Given the description of an element on the screen output the (x, y) to click on. 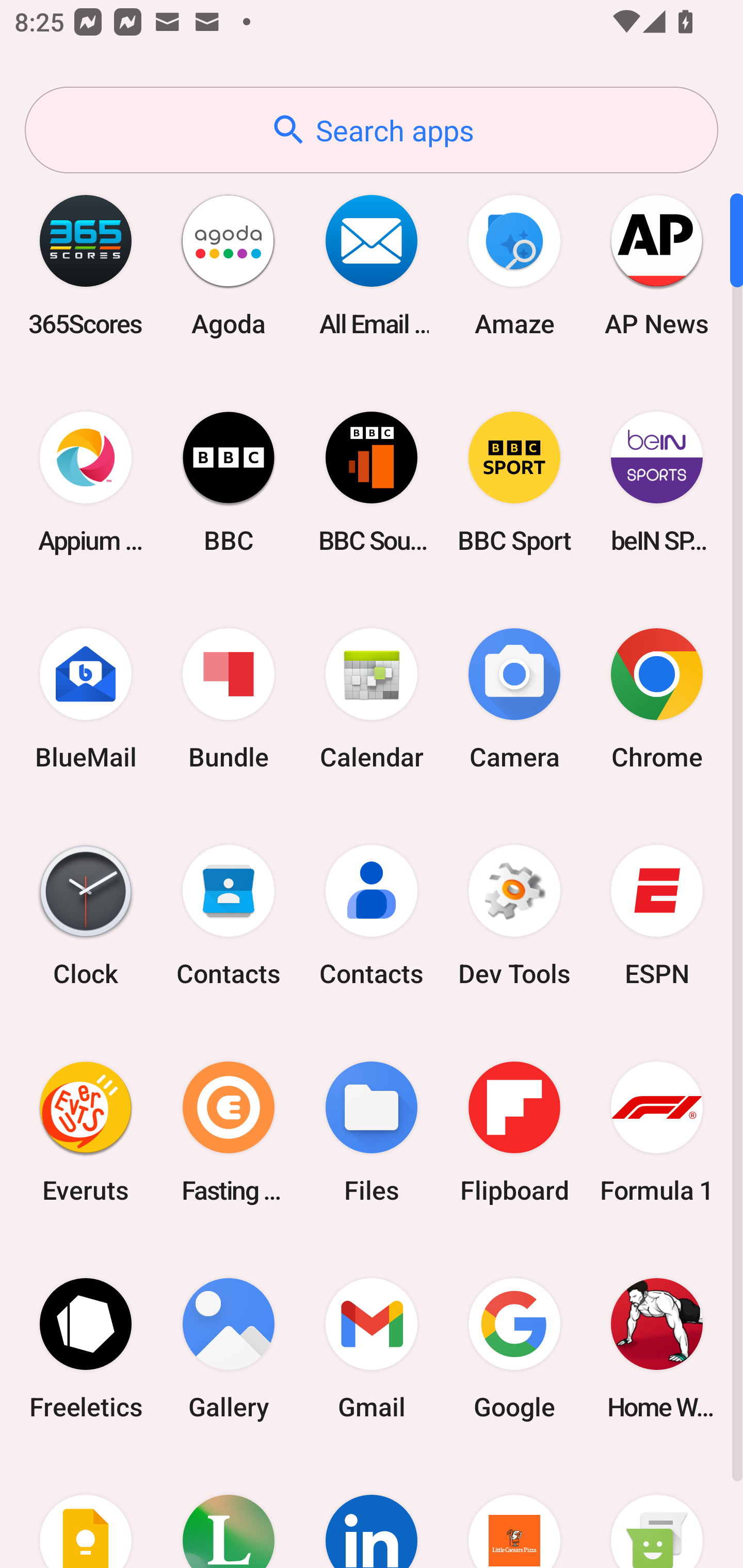
  Search apps (371, 130)
365Scores (85, 264)
Agoda (228, 264)
All Email Connect (371, 264)
Amaze (514, 264)
AP News (656, 264)
Appium Settings (85, 482)
BBC (228, 482)
BBC Sounds (371, 482)
BBC Sport (514, 482)
beIN SPORTS (656, 482)
BlueMail (85, 699)
Bundle (228, 699)
Calendar (371, 699)
Camera (514, 699)
Chrome (656, 699)
Clock (85, 915)
Contacts (228, 915)
Contacts (371, 915)
Dev Tools (514, 915)
ESPN (656, 915)
Everuts (85, 1131)
Fasting Coach (228, 1131)
Files (371, 1131)
Flipboard (514, 1131)
Formula 1 (656, 1131)
Freeletics (85, 1348)
Gallery (228, 1348)
Gmail (371, 1348)
Google (514, 1348)
Home Workout (656, 1348)
Keep Notes (85, 1512)
Lifesum (228, 1512)
LinkedIn (371, 1512)
Little Caesars Pizza (514, 1512)
Messaging (656, 1512)
